Given the description of an element on the screen output the (x, y) to click on. 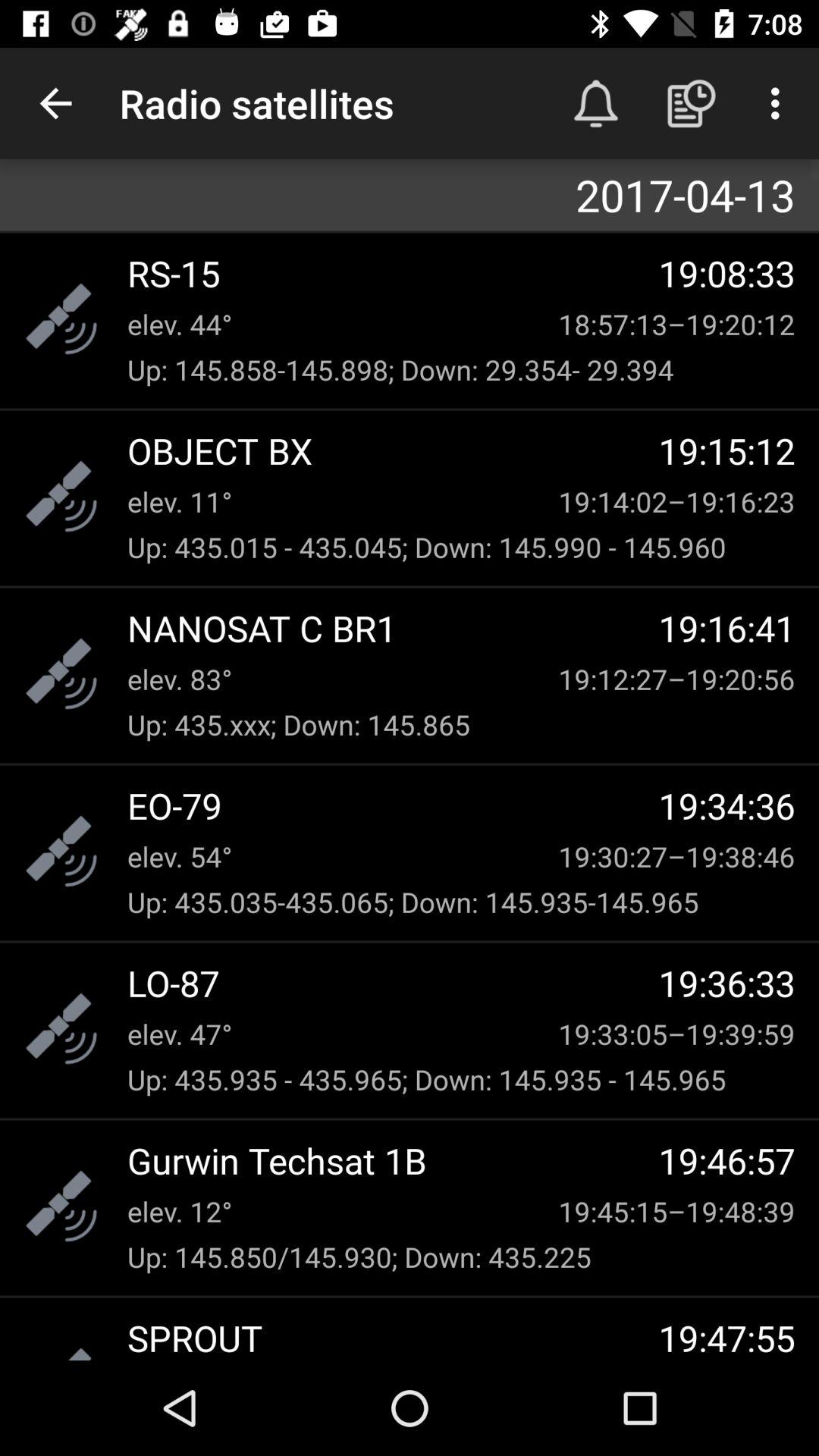
jump until the nanosat c br1 icon (392, 628)
